Given the description of an element on the screen output the (x, y) to click on. 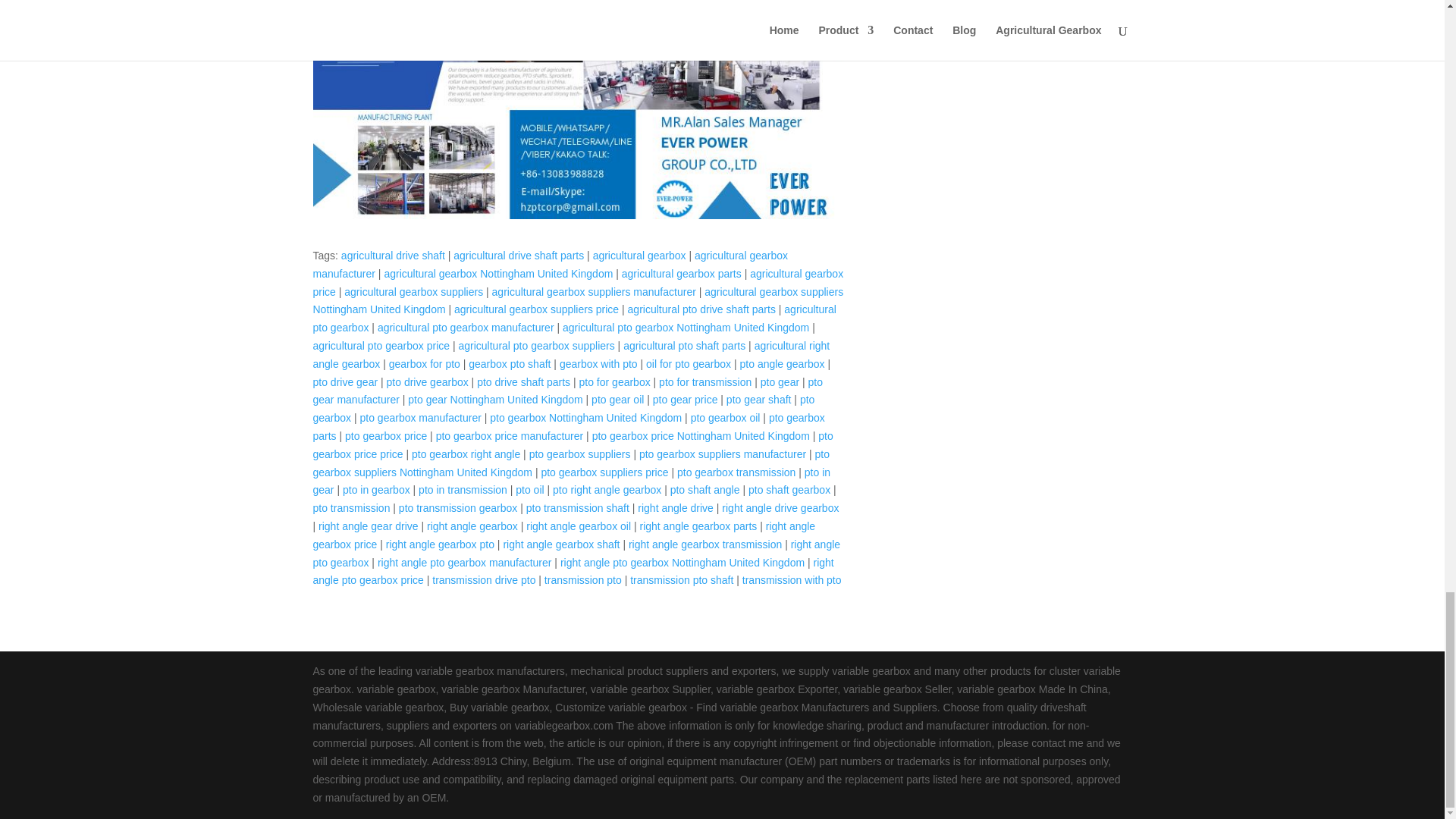
agricultural gearbox (638, 255)
agricultural pto drive shaft parts (701, 309)
agricultural gearbox price (578, 282)
agricultural pto gearbox price (381, 345)
agricultural gearbox suppliers Nottingham United Kingdom (578, 300)
agricultural gearbox manufacturer (550, 264)
agricultural gearbox parts (681, 273)
agricultural pto gearbox manufacturer (465, 327)
agricultural gearbox suppliers price (536, 309)
agricultural drive shaft parts (517, 255)
agricultural gearbox Nottingham United Kingdom (498, 273)
agricultural gearbox suppliers (413, 291)
agricultural pto gearbox (574, 318)
agricultural gearbox suppliers manufacturer (593, 291)
agricultural drive shaft (392, 255)
